Given the description of an element on the screen output the (x, y) to click on. 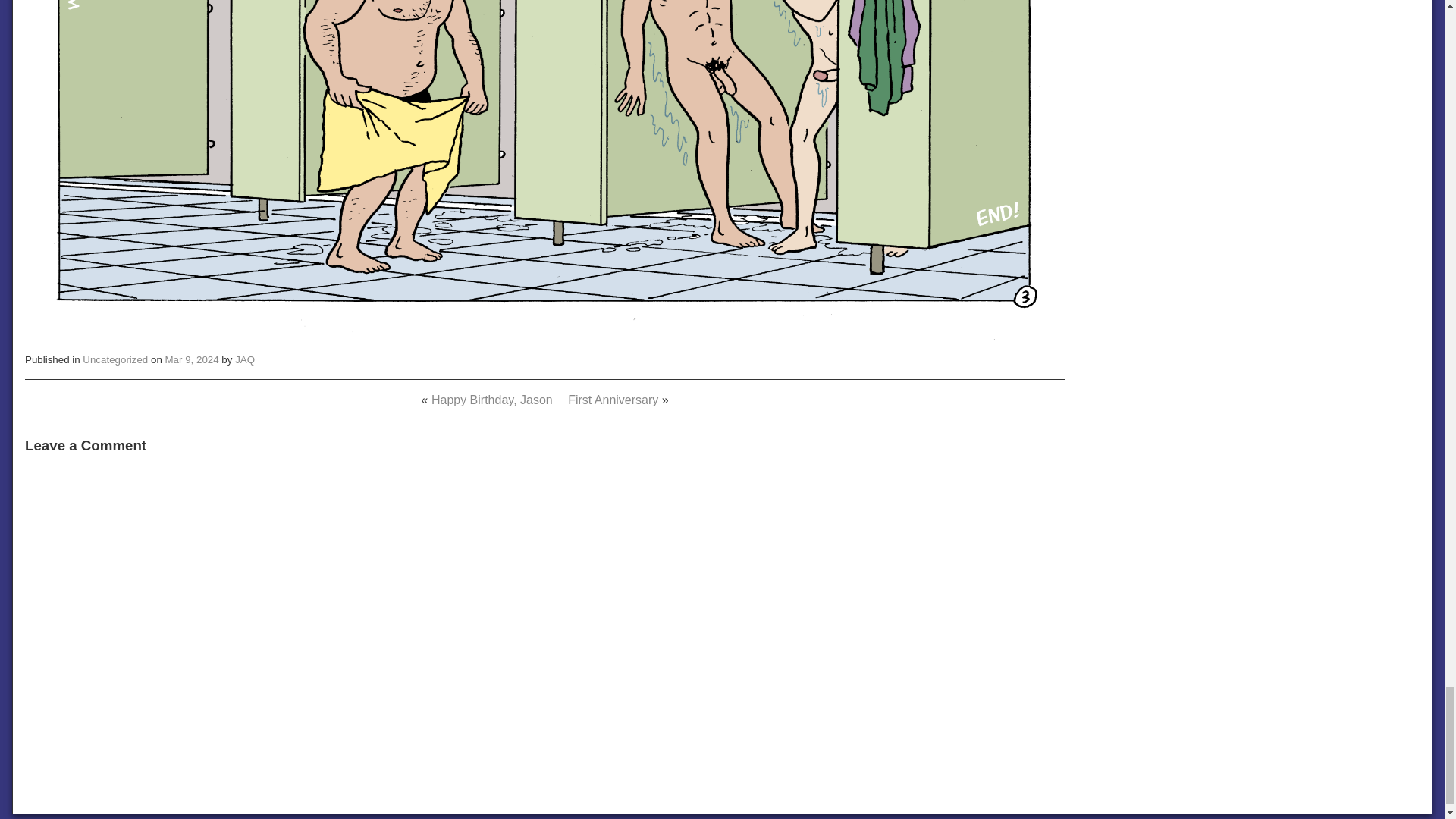
8:32 am (192, 359)
JAQ (244, 359)
Happy Birthday, Jason (491, 399)
First Anniversary (612, 399)
Mar 9, 2024 (192, 359)
Uncategorized (115, 359)
